Given the description of an element on the screen output the (x, y) to click on. 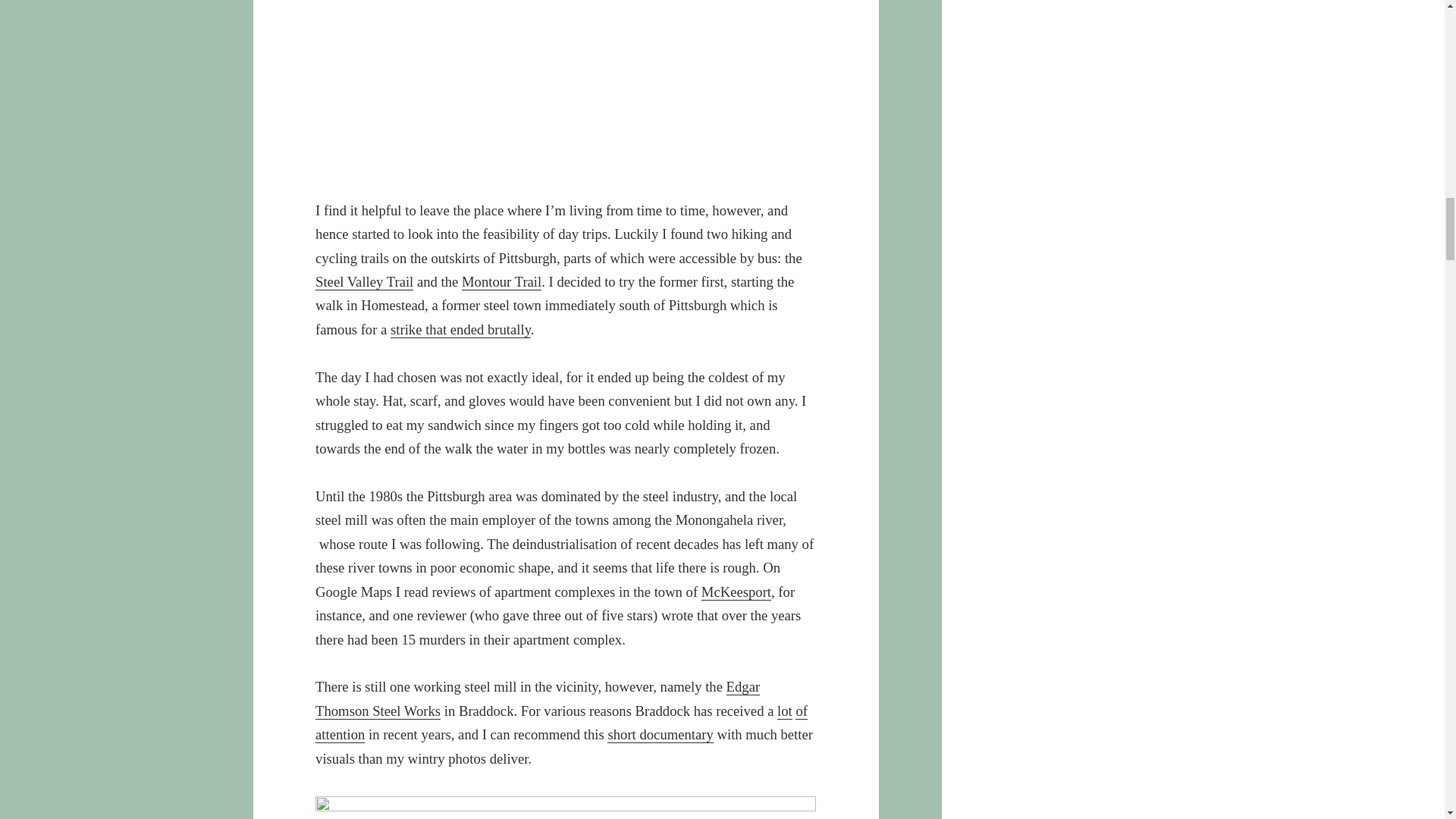
strike that ended brutally (460, 329)
Steel Valley Trail (364, 281)
Montour Trail (501, 281)
